Given the description of an element on the screen output the (x, y) to click on. 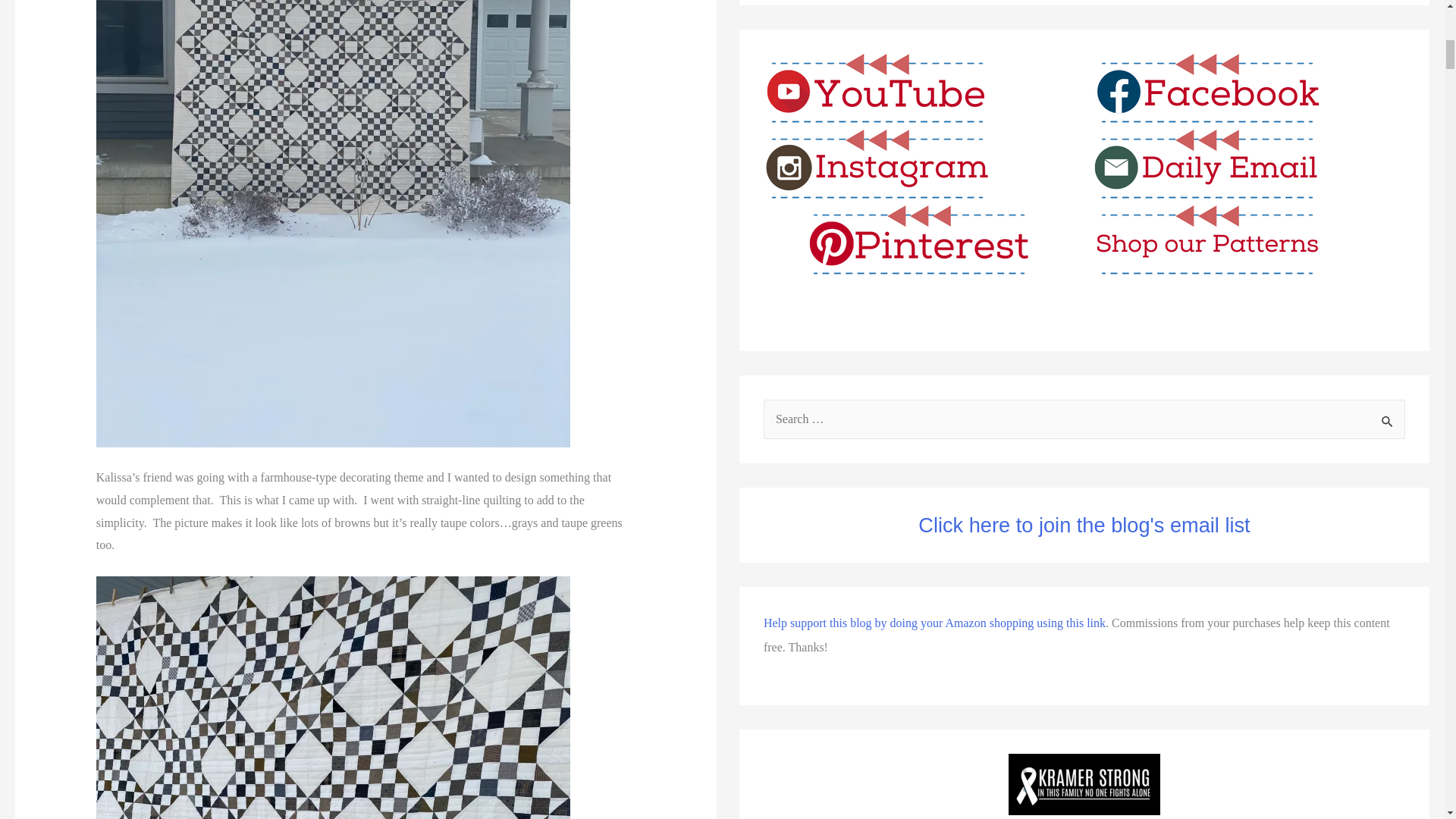
Search (1388, 419)
Search (1388, 419)
